Given the description of an element on the screen output the (x, y) to click on. 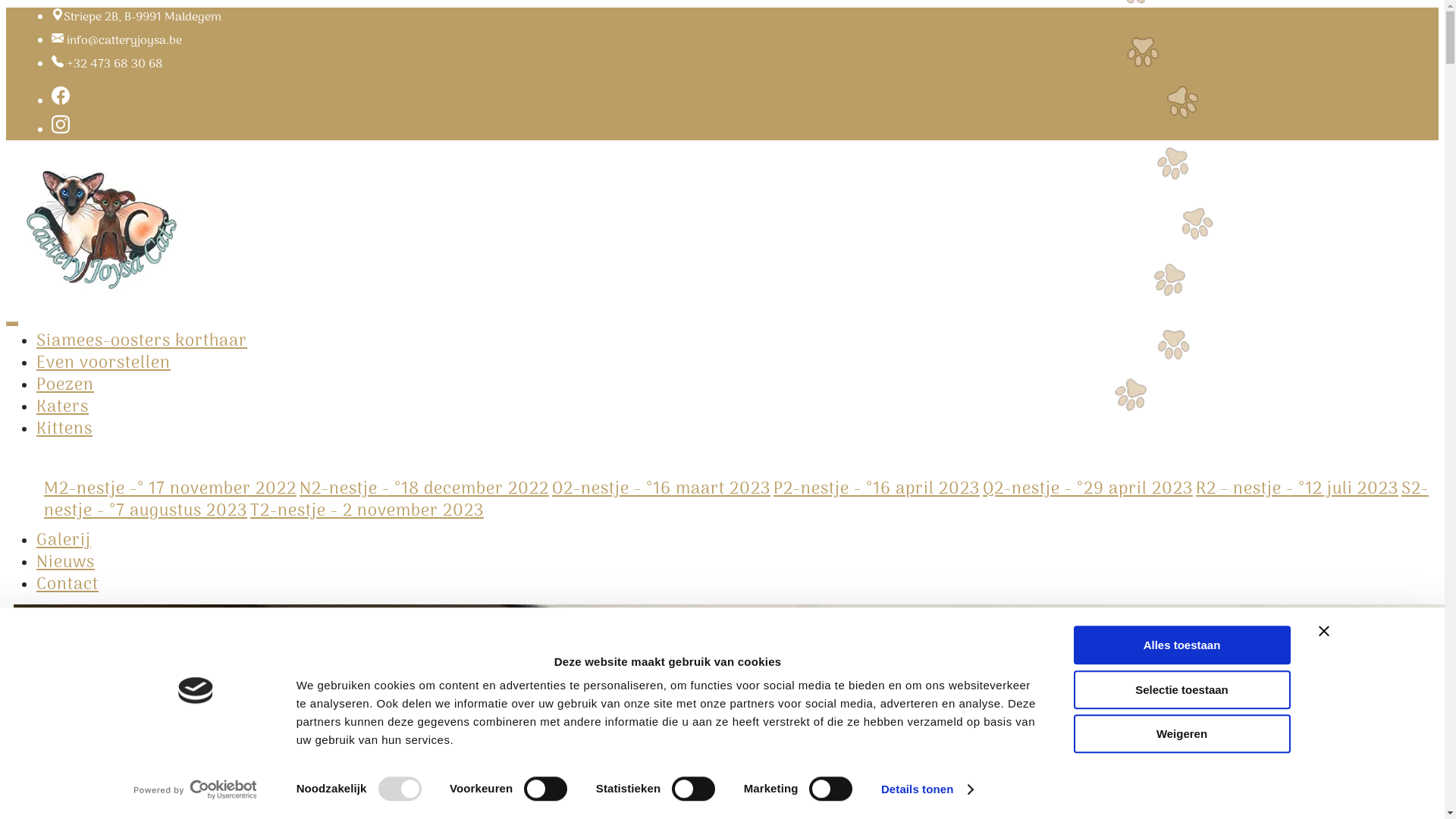
Galerij Element type: text (63, 540)
Contact Element type: text (67, 584)
Poezen Element type: text (65, 384)
Facebook Cattery Joysa Element type: hover (60, 101)
Even voorstellen Element type: text (103, 362)
Alles toestaan Element type: text (1181, 644)
Weigeren Element type: text (1181, 733)
Kittens Element type: text (64, 428)
+32 473 68 30 68 Element type: text (114, 64)
info@catteryjoysa.be Element type: text (124, 40)
Details tonen Element type: text (926, 789)
Selectie toestaan Element type: text (1181, 689)
Instagram Cattery Joysa Element type: hover (60, 130)
Logo Cattery Joysa Element type: hover (100, 226)
Siamees-oosters korthaar Element type: text (141, 340)
Katers Element type: text (62, 406)
T2-nestje - 2 november 2023 Element type: text (366, 510)
Nieuws Element type: text (65, 562)
